Given the description of an element on the screen output the (x, y) to click on. 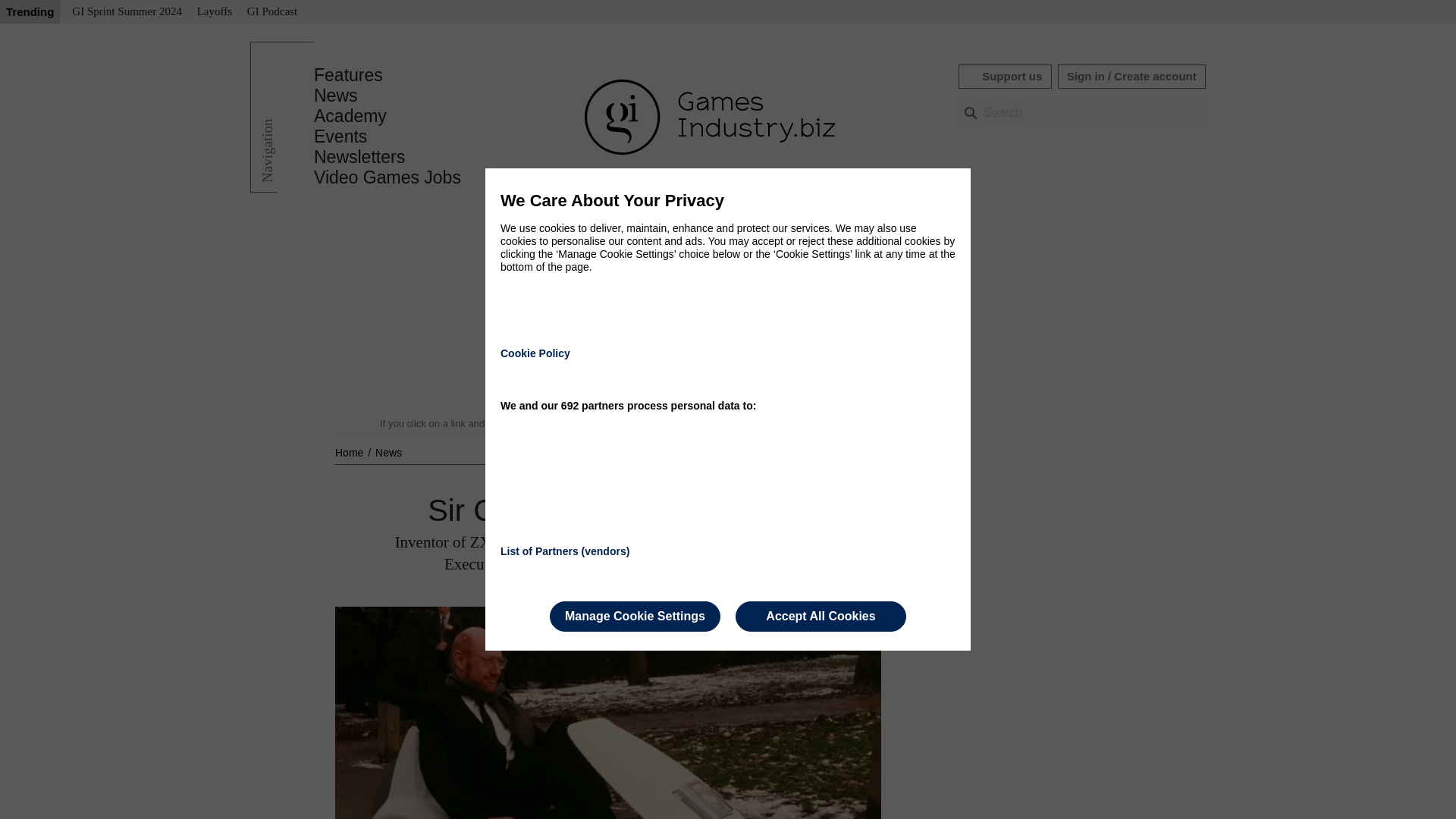
Events (340, 136)
Newsletters (359, 157)
Academy (350, 116)
Features (348, 75)
Features (348, 75)
News (336, 95)
News (388, 452)
Home (350, 452)
Support us (1004, 75)
Layoffs (214, 11)
GI Sprint Summer 2024 (126, 11)
Home (350, 452)
Video Games Jobs (387, 177)
Newsletters (359, 157)
GI Podcast (271, 11)
